Given the description of an element on the screen output the (x, y) to click on. 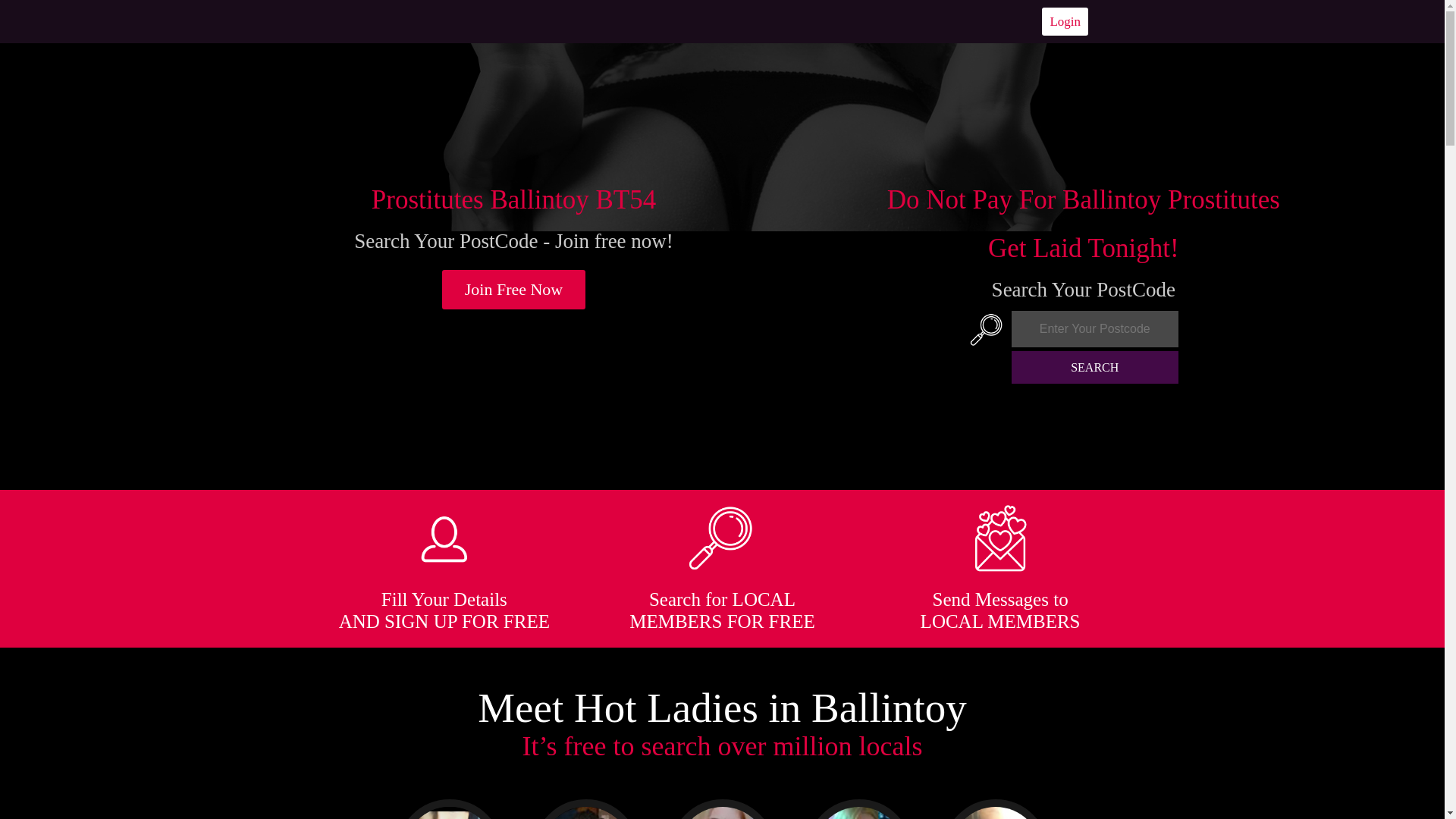
Login (1064, 21)
SEARCH (1094, 367)
Join Free Now (514, 289)
Join (514, 289)
Login (1064, 21)
